Given the description of an element on the screen output the (x, y) to click on. 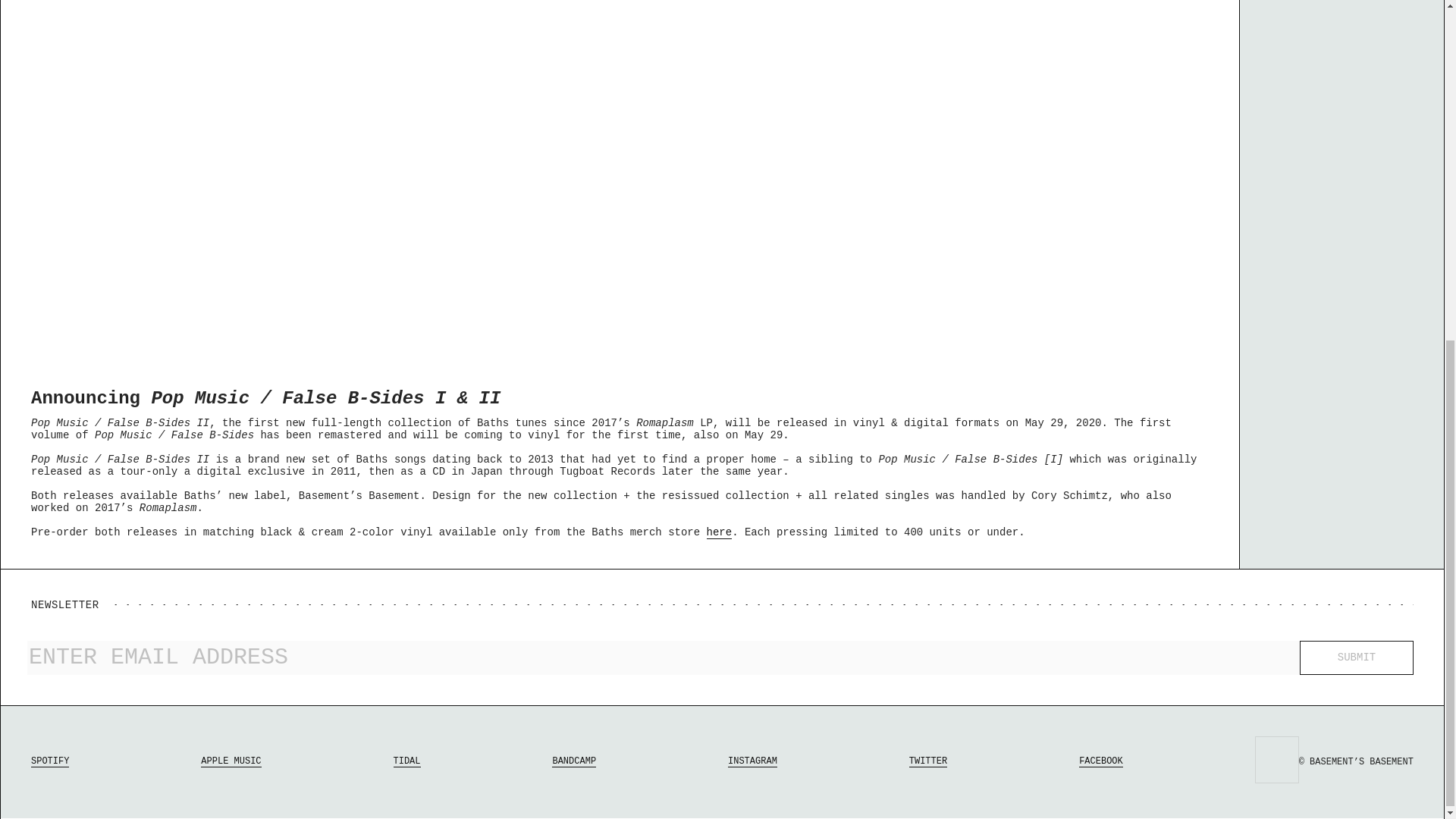
FACEBOOK (1100, 761)
APPLE MUSIC (230, 761)
Submit (1356, 657)
INSTAGRAM (752, 761)
here (719, 532)
Submit (1356, 657)
TWITTER (927, 761)
TIDAL (406, 761)
SPOTIFY (49, 761)
BANDCAMP (573, 761)
